Given the description of an element on the screen output the (x, y) to click on. 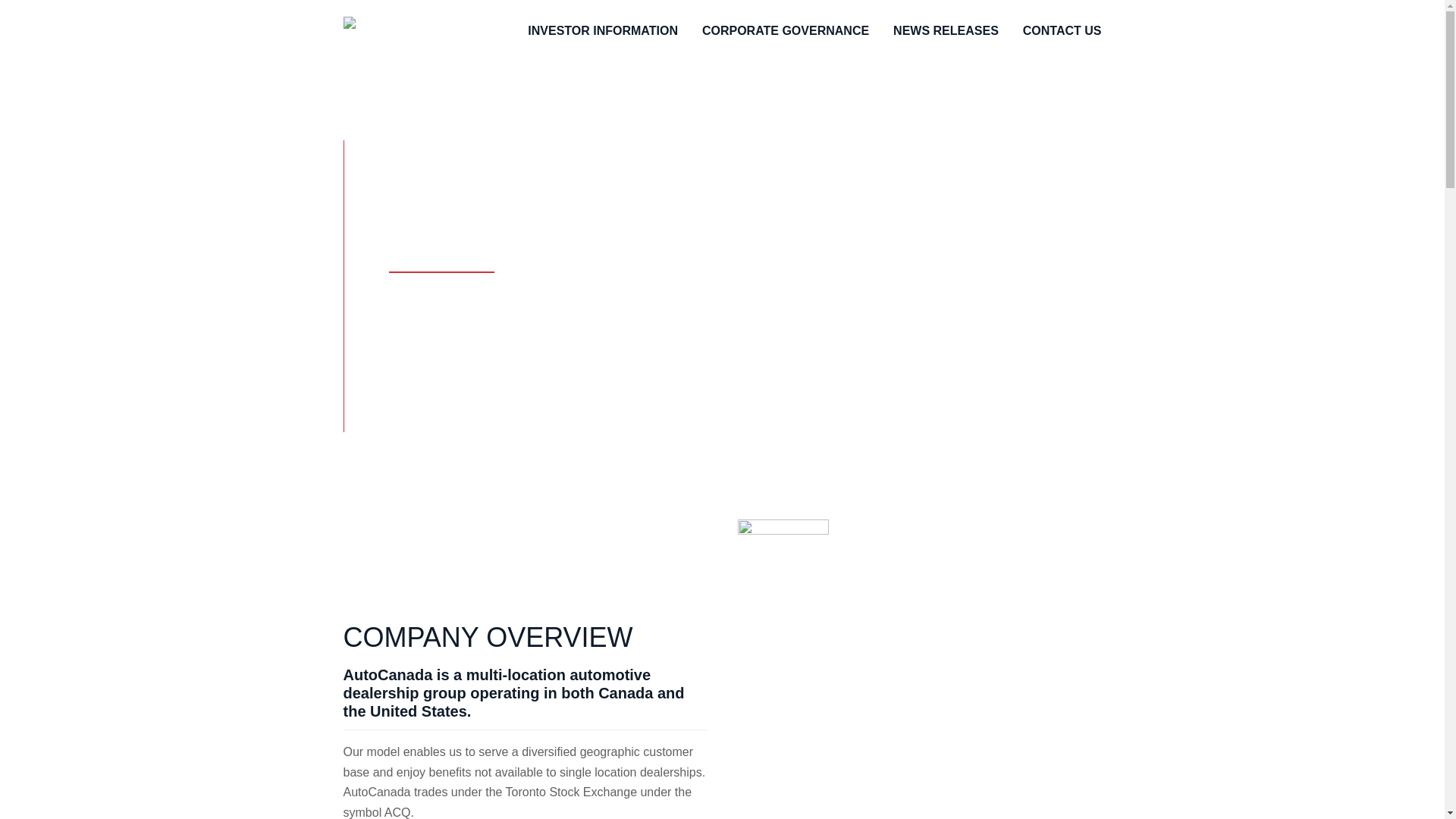
Home Element type: hover (403, 25)
NEWS RELEASES Element type: text (945, 31)
Investor Documents & Filings Element type: text (467, 333)
CORPORATE GOVERNANCE Element type: text (785, 31)
INVESTOR INFORMATION Element type: text (602, 31)
Company Overview Element type: text (441, 252)
Stock Information Element type: text (435, 293)
Notice and Access Meeting Materials/Presentations & Events Element type: text (552, 374)
CONTACT US Element type: text (1061, 31)
